Given the description of an element on the screen output the (x, y) to click on. 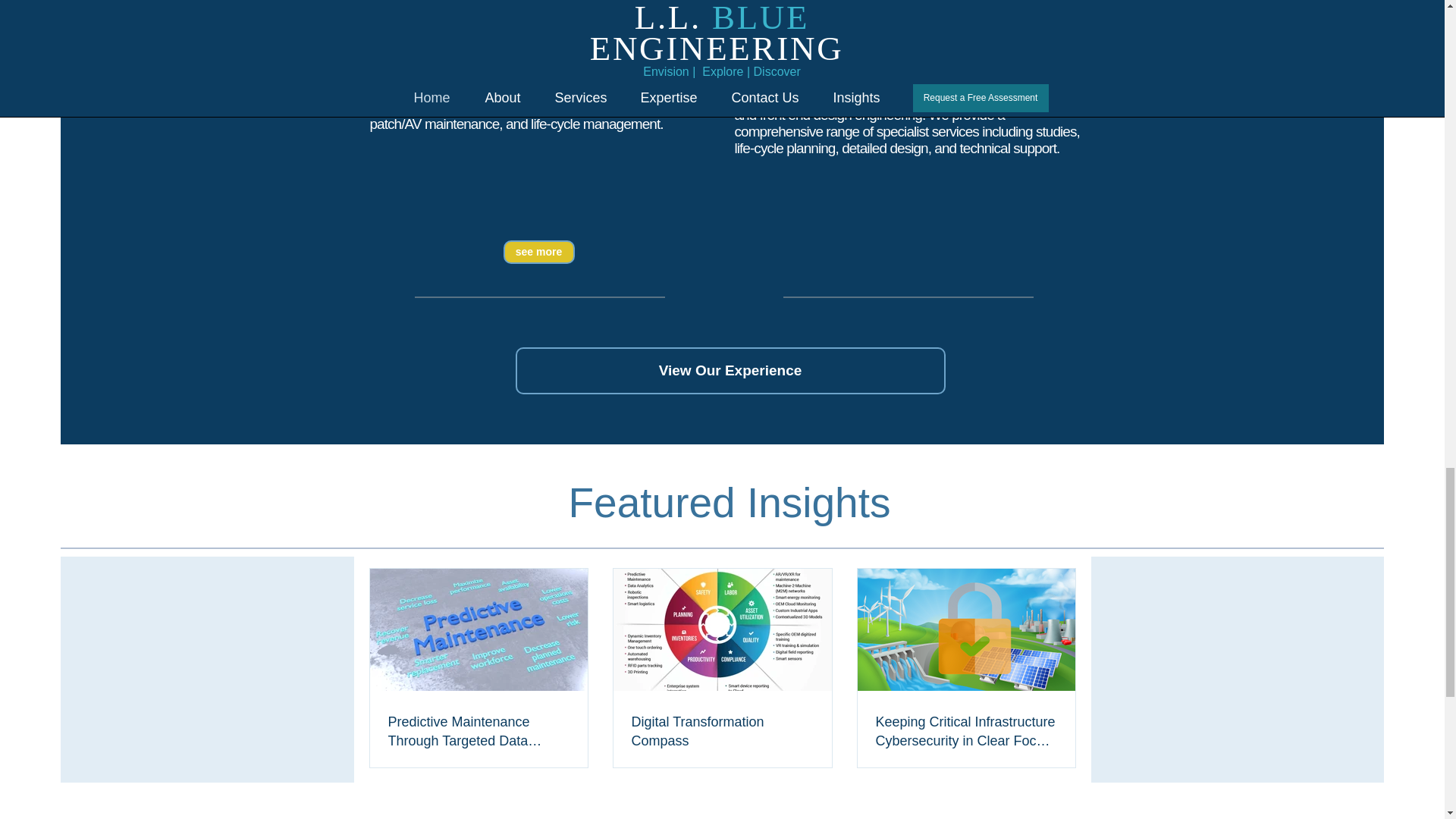
ICS Cybersecurity (507, 6)
View Our Experience (729, 370)
Predictive Maintenance Through Targeted Data Analytics (478, 731)
see more (539, 251)
Digital Transformation Compass (721, 731)
